Given the description of an element on the screen output the (x, y) to click on. 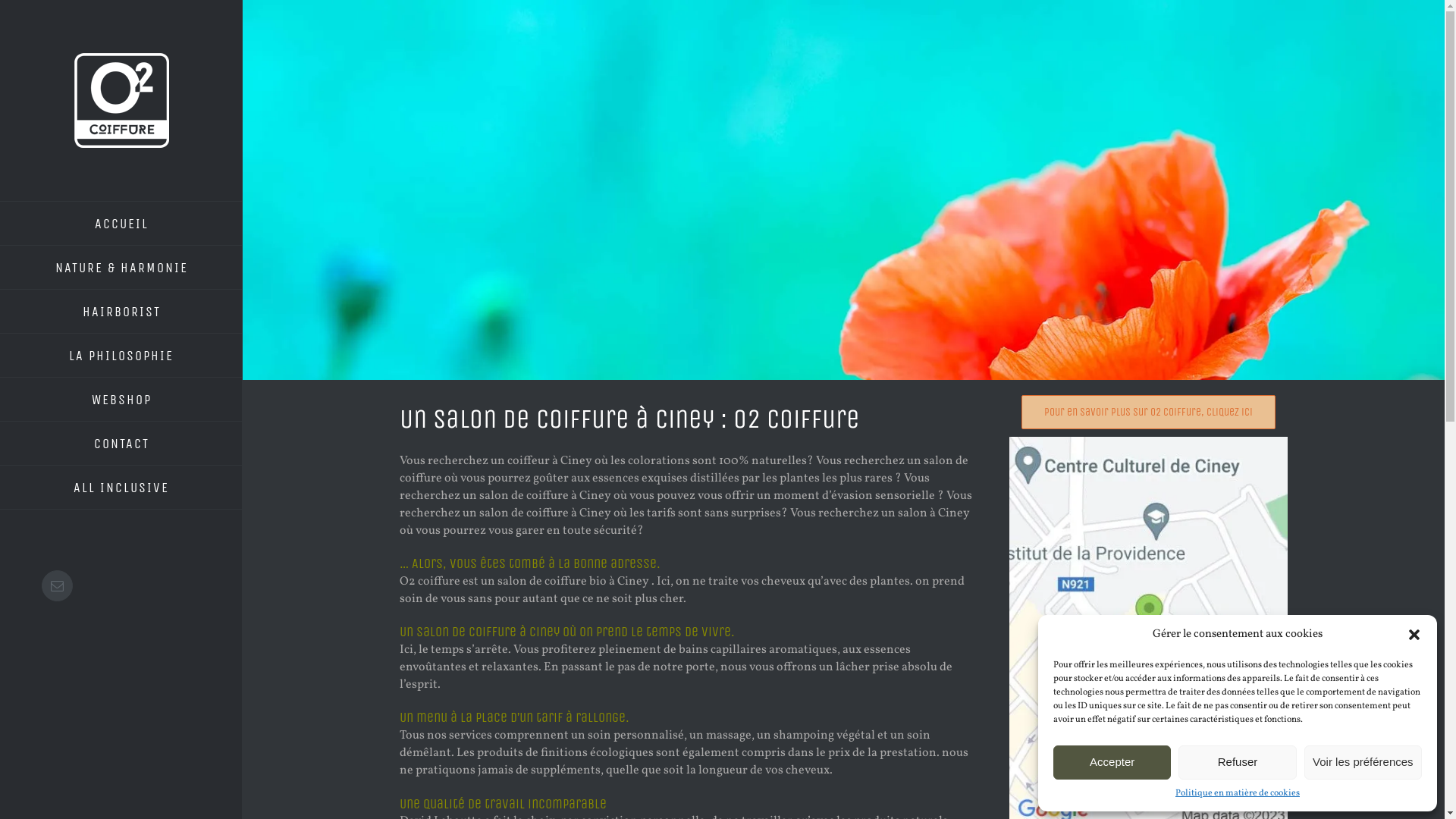
HAIRBORIST Element type: text (121, 311)
ALL INCLUSIVE Element type: text (121, 487)
NATURE & HARMONIE Element type: text (121, 267)
Pour en savoir plus sur o2 coiffure, cliquez ici Element type: text (1148, 412)
Accepter Element type: text (1111, 762)
Email Element type: text (56, 585)
Refuser Element type: text (1236, 762)
CONTACT Element type: text (121, 443)
ACCUEIL Element type: text (121, 222)
LA PHILOSOPHIE Element type: text (121, 355)
WEBSHOP Element type: text (121, 399)
